Given the description of an element on the screen output the (x, y) to click on. 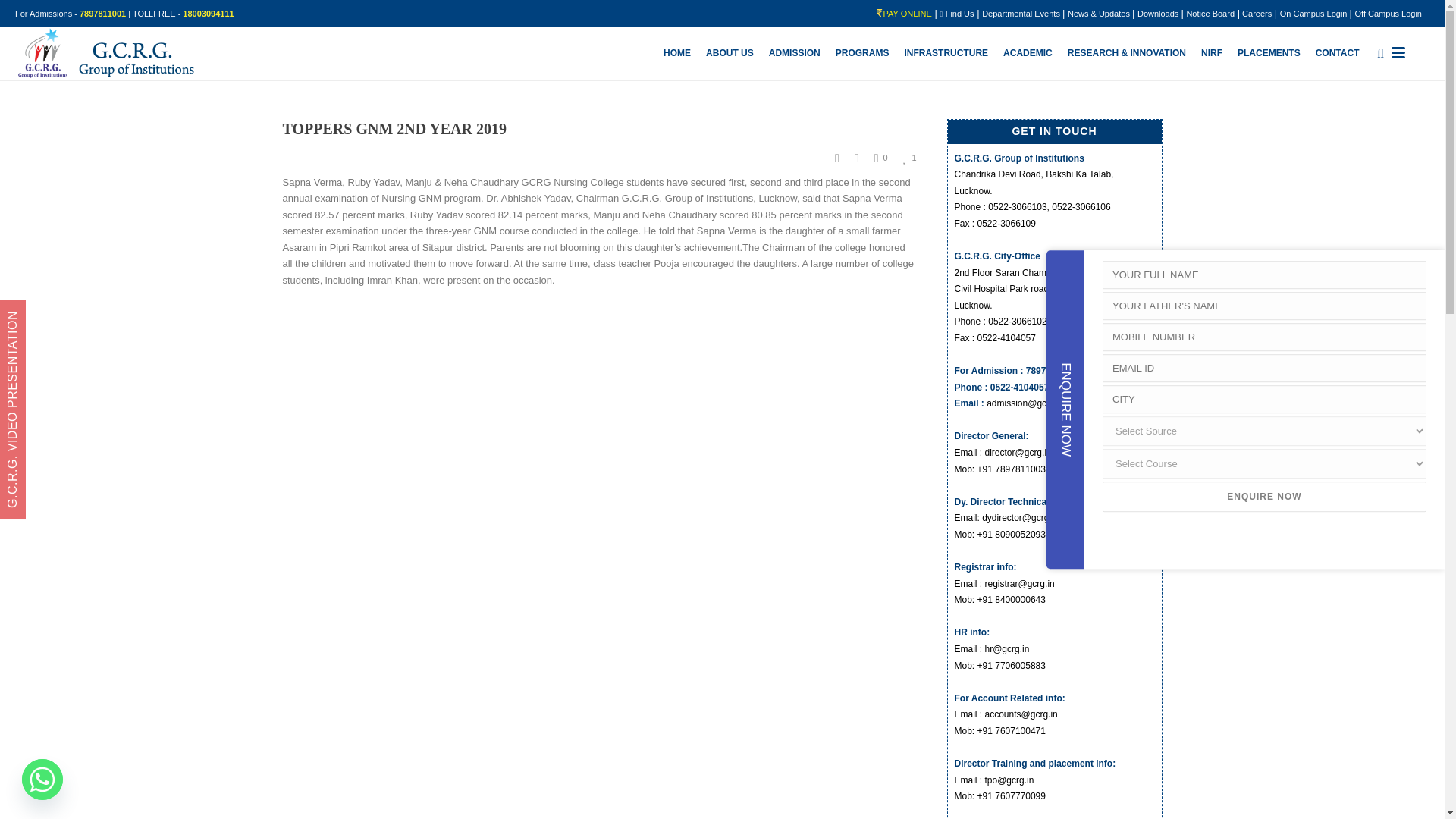
Careers (1255, 13)
ABOUT US (729, 53)
PLACEMENTS (1268, 53)
CONTACT (1337, 53)
HOME (677, 53)
PROGRAMS (862, 53)
Notice Board (1210, 13)
ACADEMIC (1027, 53)
Off Campus Login (1388, 13)
Downloads (1158, 13)
